Given the description of an element on the screen output the (x, y) to click on. 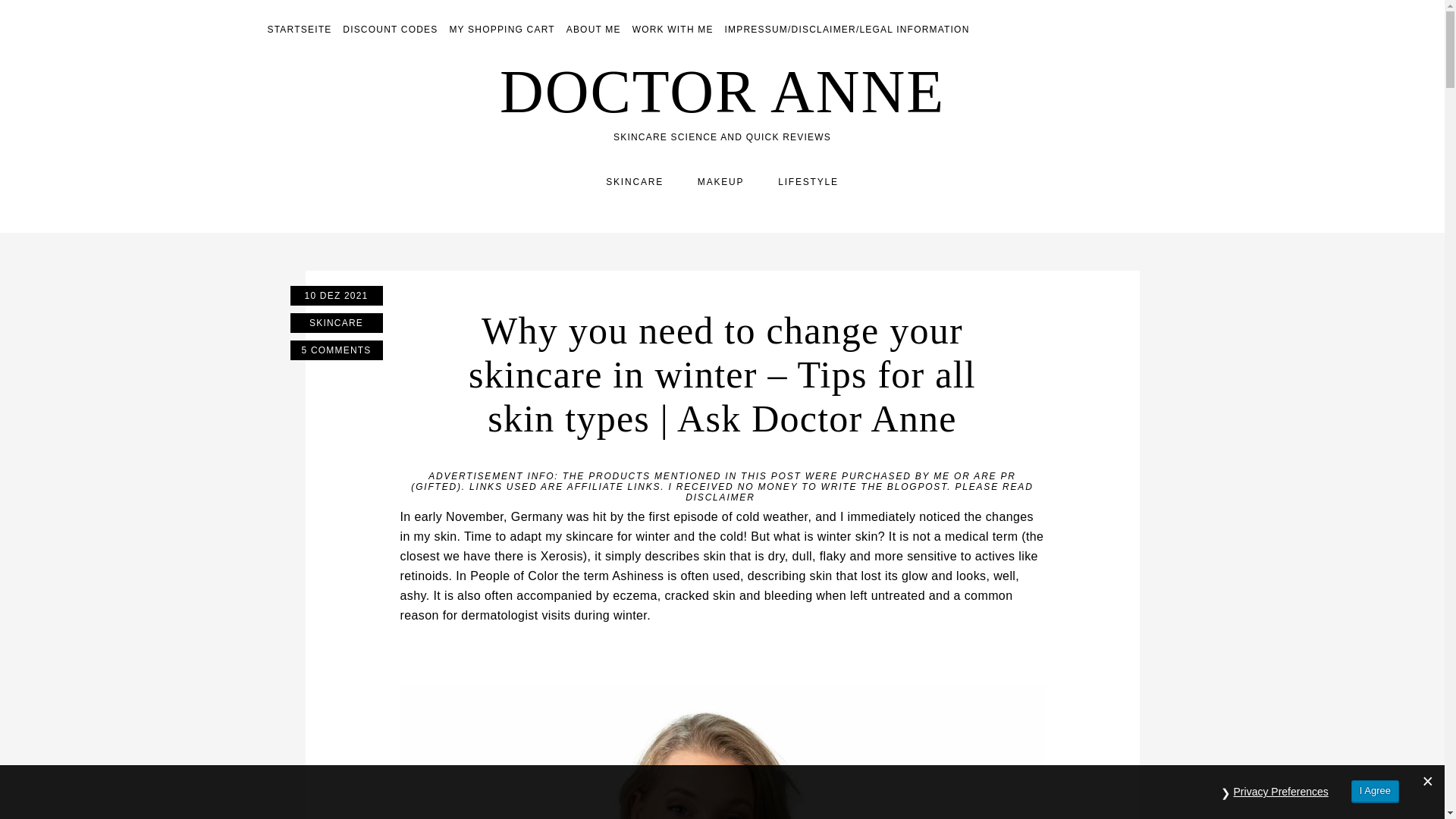
ABOUT ME (593, 29)
STARTSEITE (298, 29)
DOCTOR ANNE (721, 91)
WORK WITH ME (672, 29)
DISCOUNT CODES (390, 29)
View all posts in Skincare (335, 322)
MY SHOPPING CART (501, 29)
